Given the description of an element on the screen output the (x, y) to click on. 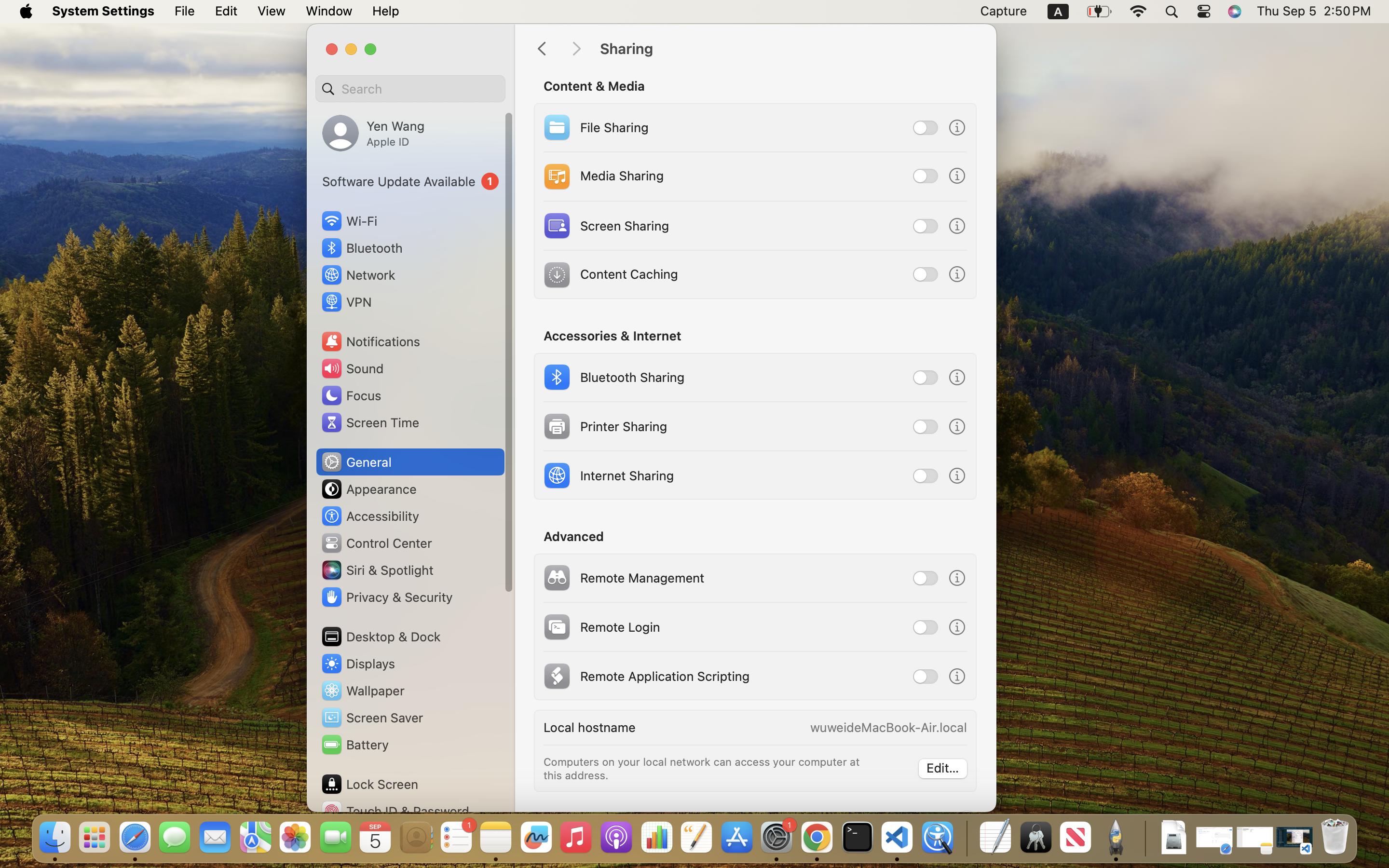
1 Element type: AXStaticText (410, 180)
File Sharing Element type: AXStaticText (594, 126)
Remote Management Element type: AXStaticText (622, 577)
wuweideMacBook-Air.local Element type: AXStaticText (888, 726)
Remote Application Scripting Element type: AXStaticText (645, 675)
